Given the description of an element on the screen output the (x, y) to click on. 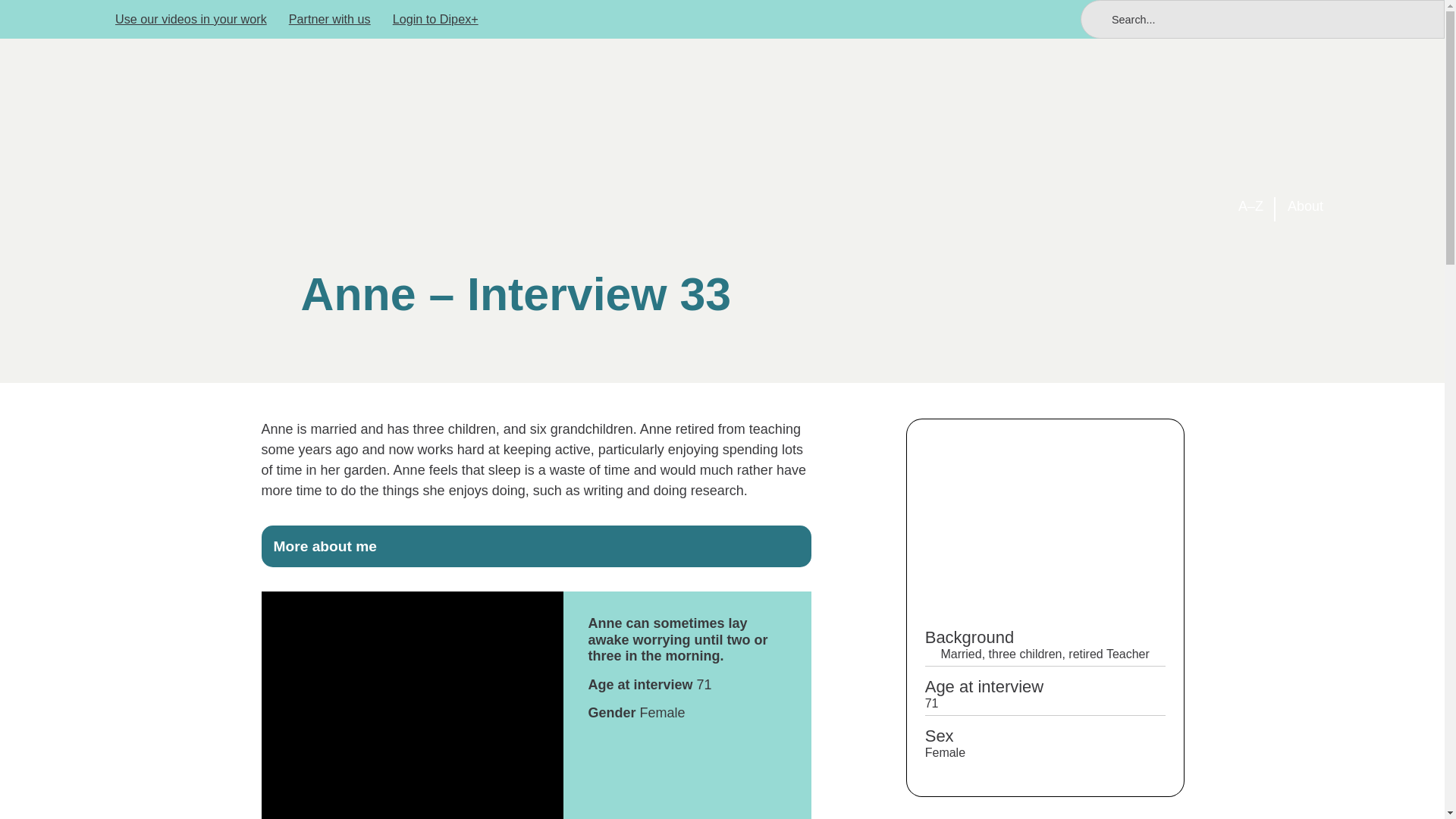
Partner with us (329, 18)
More about me (535, 546)
Use our videos in your work (190, 18)
Healthtalk (200, 141)
About (1305, 206)
